Given the description of an element on the screen output the (x, y) to click on. 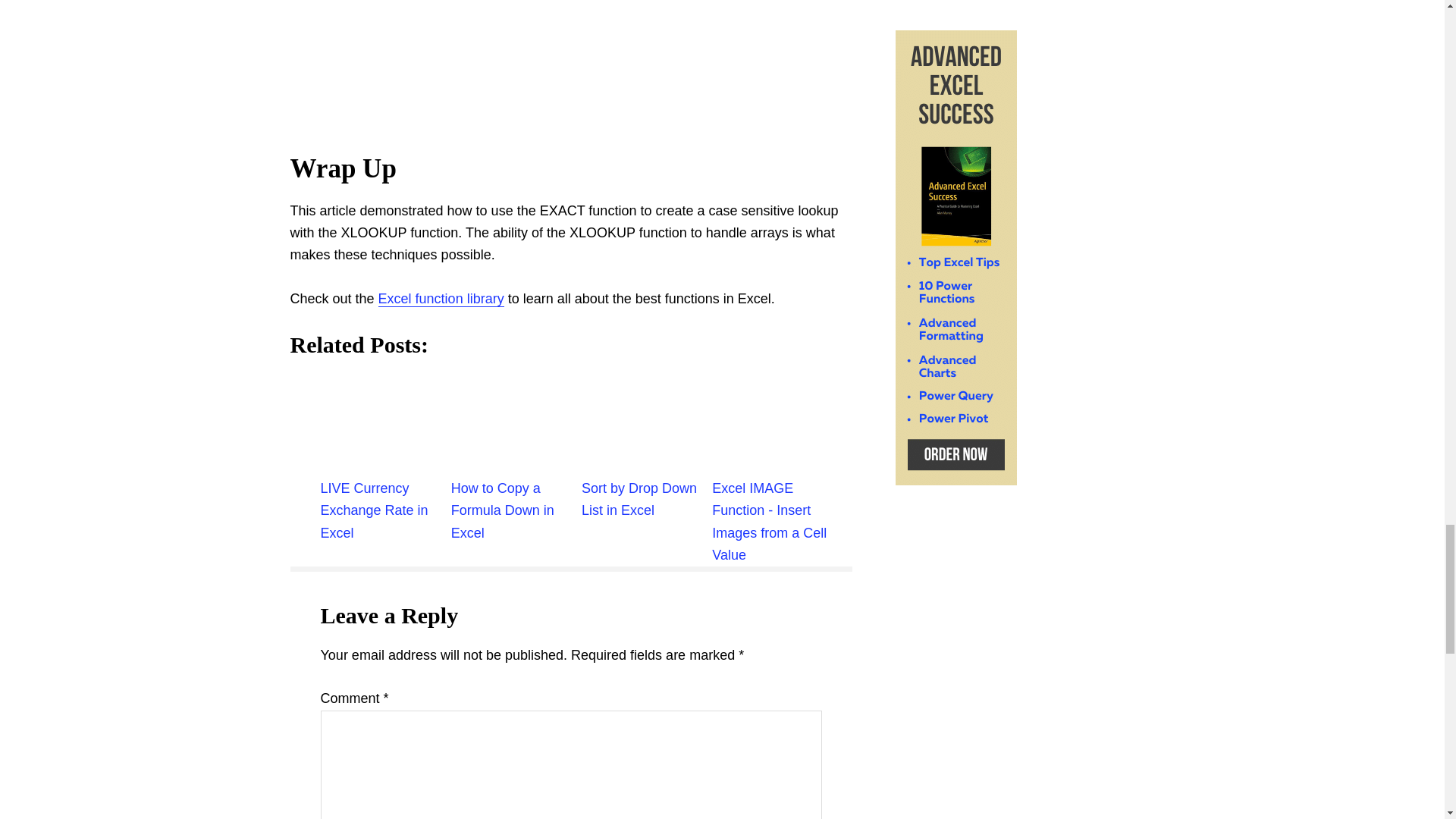
Sort by Drop Down List in Excel (645, 421)
Excel function library (440, 299)
LIVE Currency Exchange Rate in Excel (384, 421)
Excel IMAGE Function - Insert Images from a Cell Value (776, 421)
How to Copy a Formula Down in Excel (515, 421)
